Given the description of an element on the screen output the (x, y) to click on. 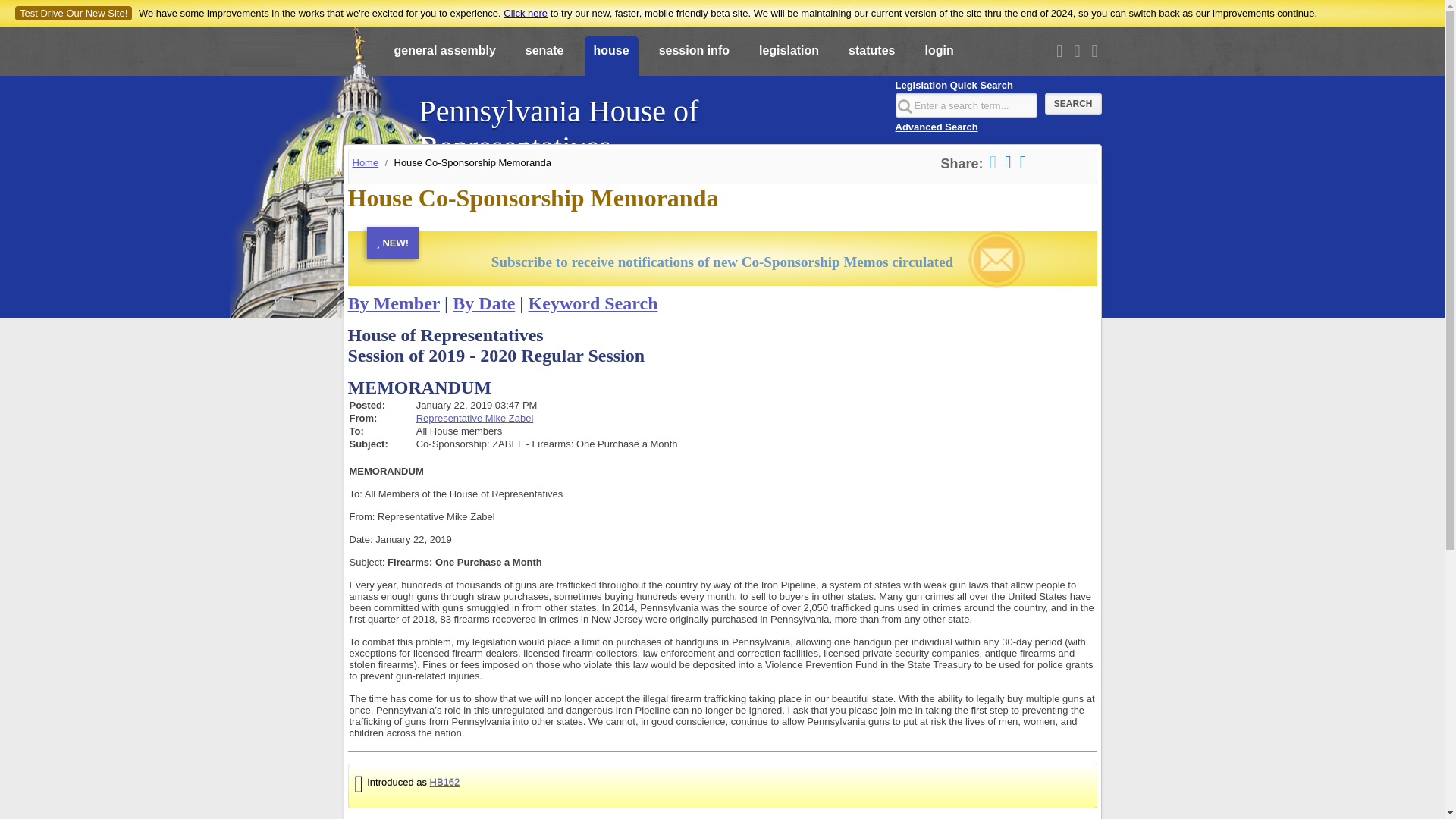
Search (1073, 103)
general assembly (445, 57)
statutes (872, 57)
Advanced Search (935, 126)
Pennsylvania House of Representatives (647, 120)
Click here (525, 12)
session info (693, 57)
Search (1073, 103)
legislation (788, 57)
house (610, 57)
login (938, 57)
senate (544, 57)
